Given the description of an element on the screen output the (x, y) to click on. 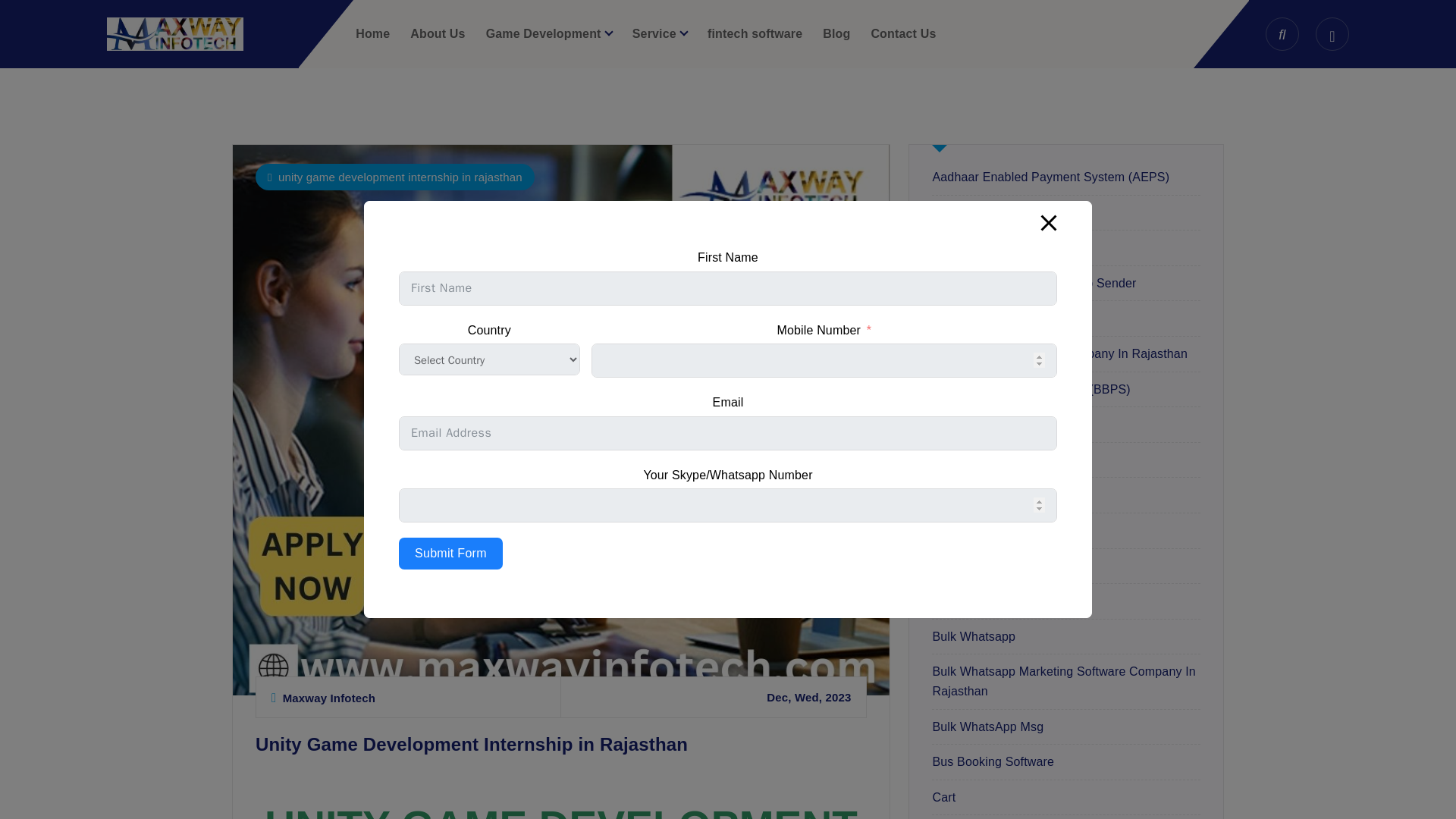
fintech software (754, 33)
Service (659, 33)
fintech software (754, 33)
About Us (437, 33)
About Us (437, 33)
Game Development (548, 33)
Blog (836, 33)
Home (372, 33)
Game Development (548, 33)
Contact Us (903, 33)
